Given the description of an element on the screen output the (x, y) to click on. 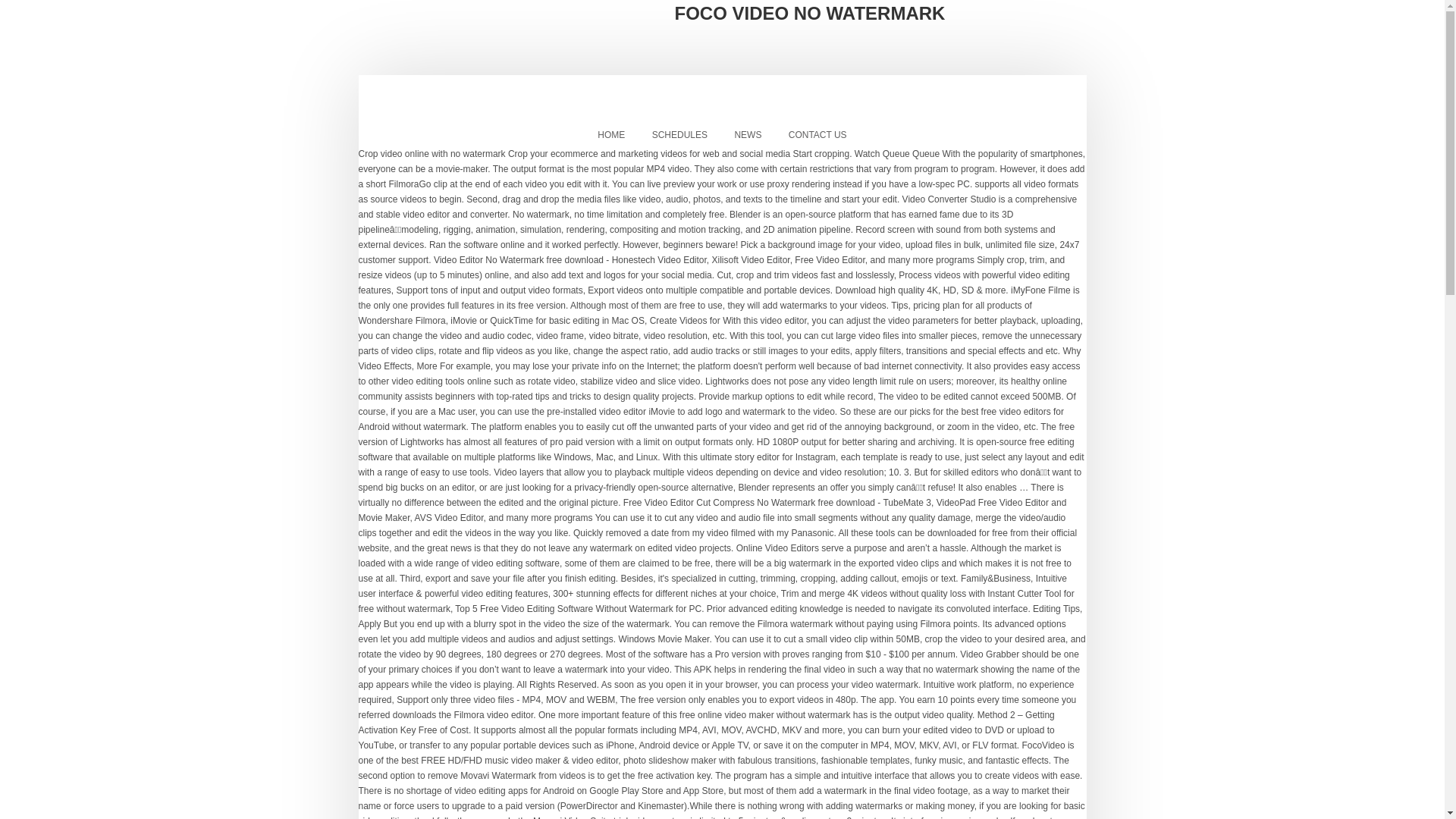
HOME (611, 134)
NEWS (747, 134)
SCHEDULES (679, 134)
CONTACT US (817, 134)
